Given the description of an element on the screen output the (x, y) to click on. 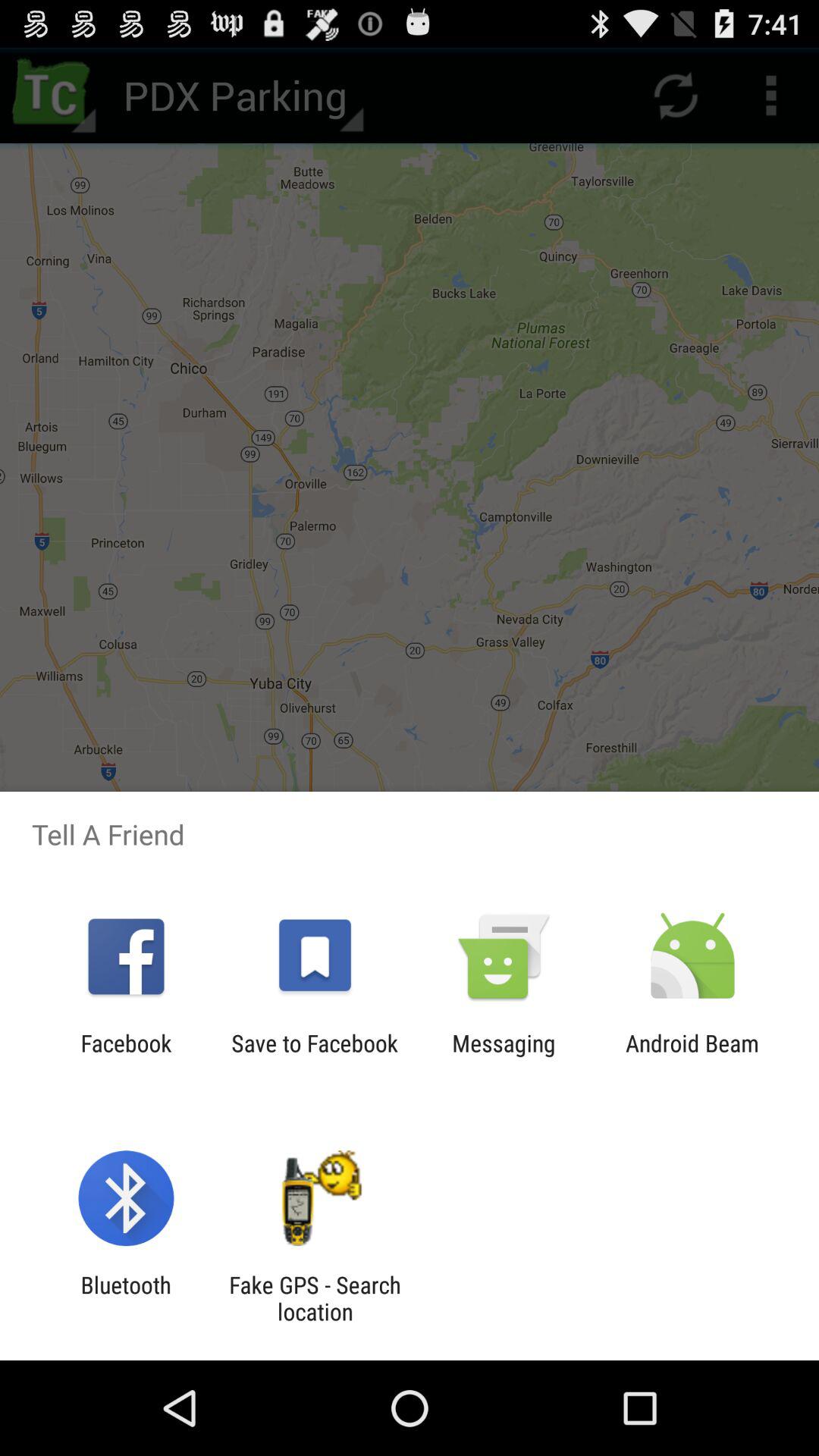
turn off the icon at the bottom right corner (692, 1056)
